Given the description of an element on the screen output the (x, y) to click on. 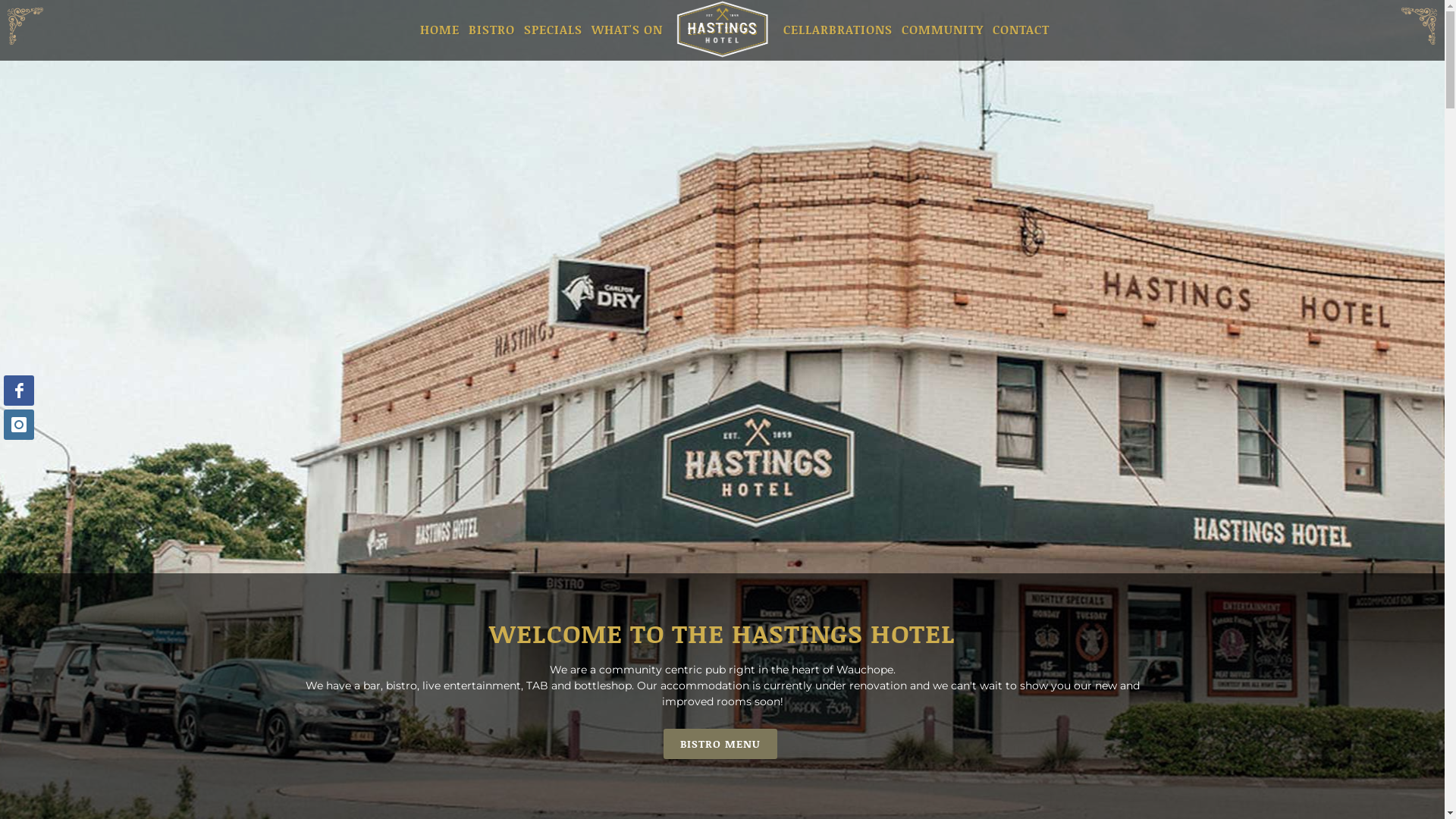
SPECIALS Element type: text (553, 29)
COMMUNITY Element type: text (942, 29)
CELLARBRATIONS Element type: text (837, 29)
HOME Element type: text (438, 29)
  Element type: text (722, 7)
BISTRO Element type: text (490, 29)
WHAT'S ON Element type: text (625, 29)
BISTRO MENU Element type: text (722, 743)
CONTACT Element type: text (1020, 29)
